Given the description of an element on the screen output the (x, y) to click on. 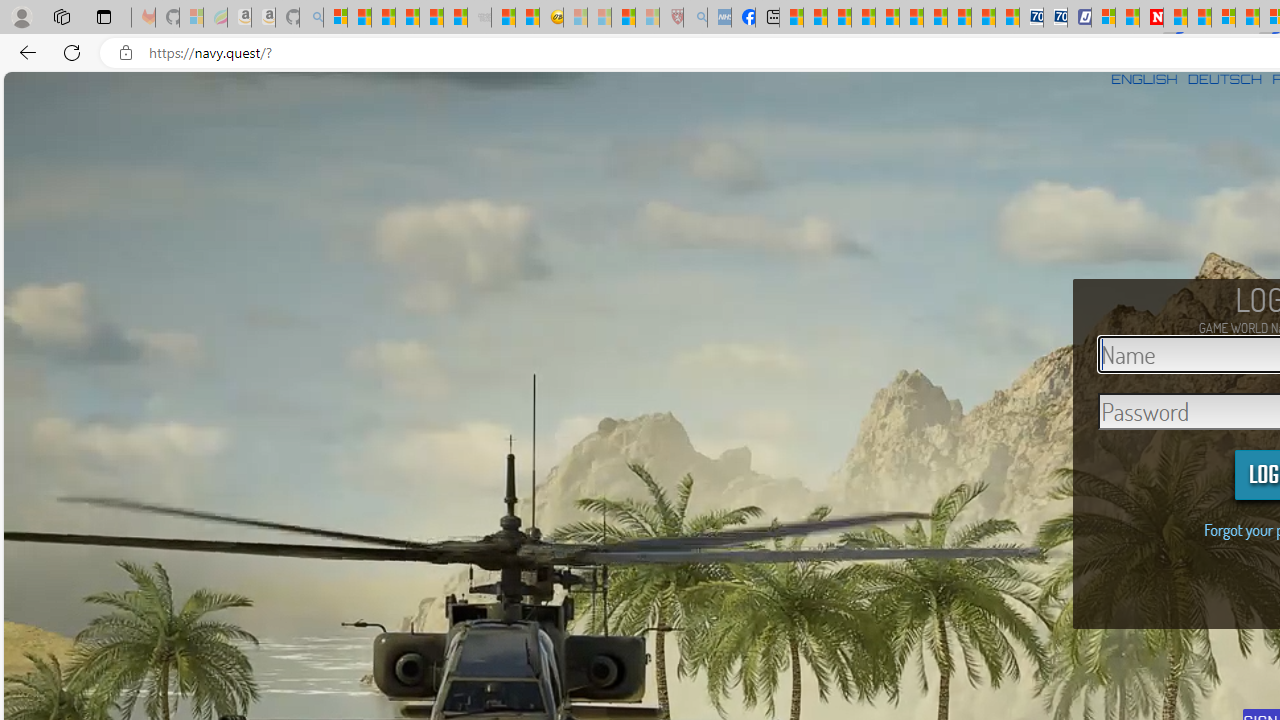
DEUTSCH (1224, 79)
Latest Politics News & Archive | Newsweek.com (1151, 17)
